Given the description of an element on the screen output the (x, y) to click on. 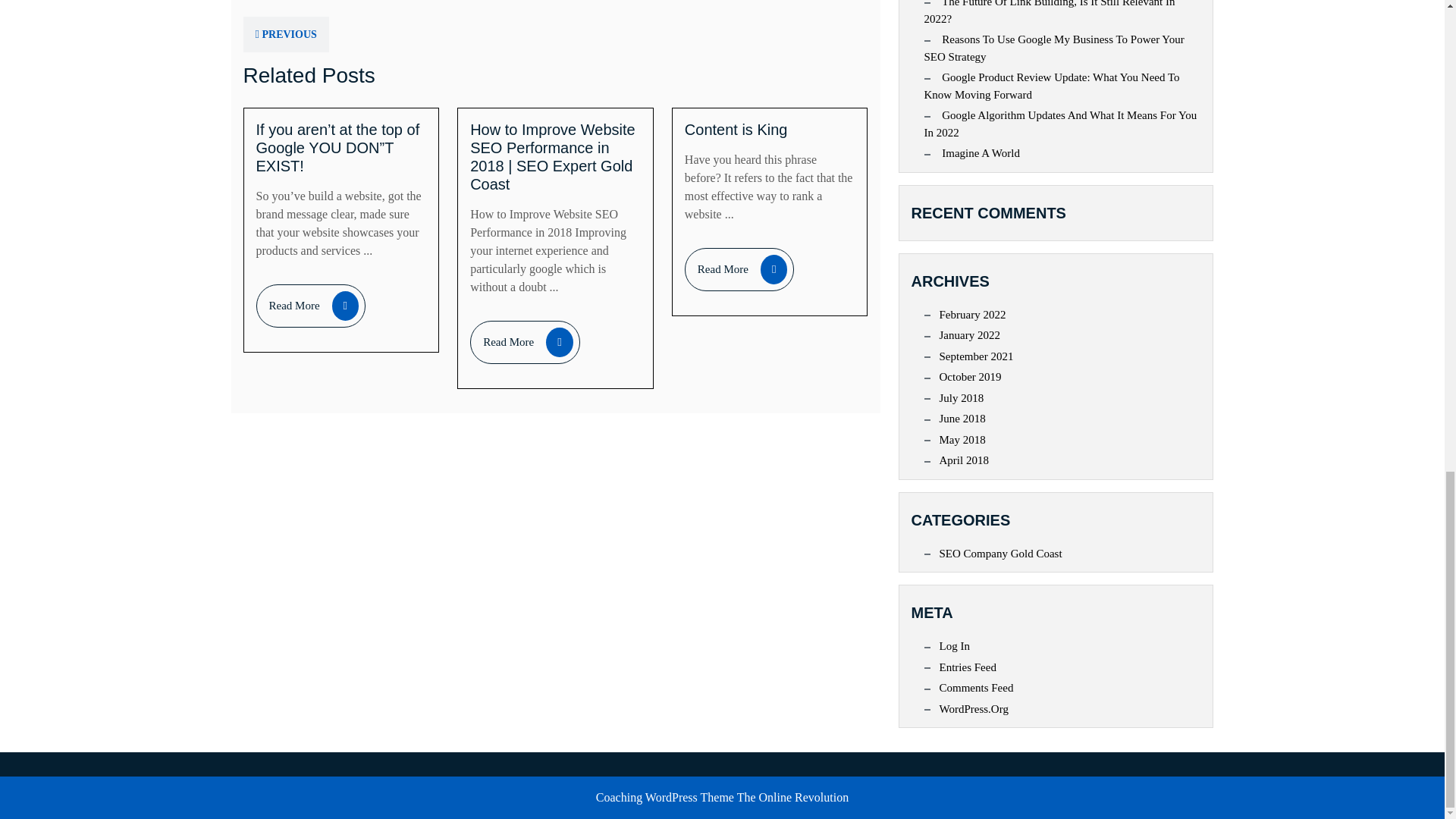
The Future Of Link Building, Is It Still Relevant In 2022? (1048, 14)
Content is King (735, 129)
